Given the description of an element on the screen output the (x, y) to click on. 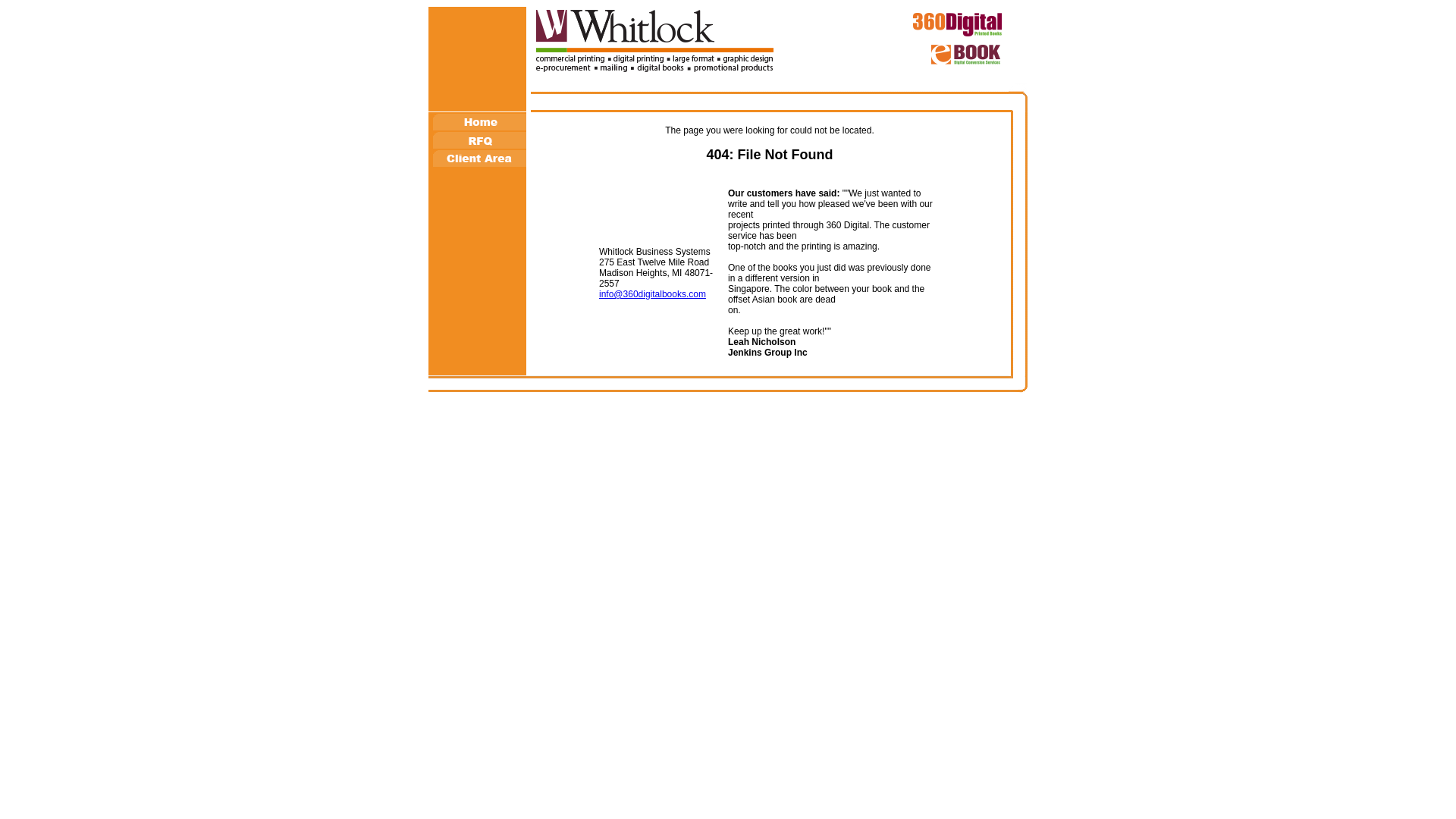
info@360digitalbooks.com Element type: text (652, 293)
